Given the description of an element on the screen output the (x, y) to click on. 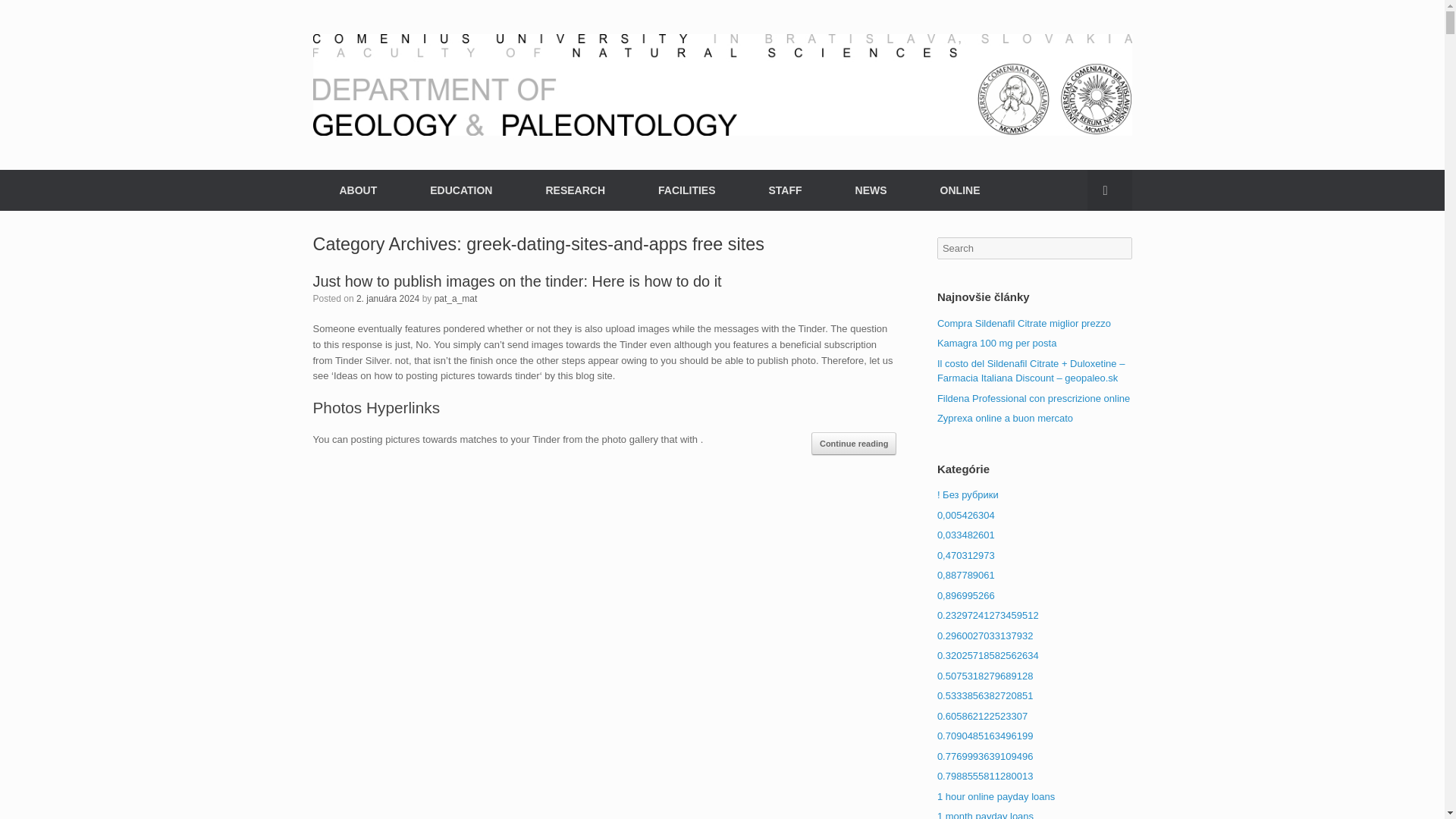
ABOUT (358, 189)
FACILITIES (686, 189)
EDUCATION (460, 189)
15:44 (387, 297)
RESEARCH (574, 189)
STAFF (784, 189)
